Given the description of an element on the screen output the (x, y) to click on. 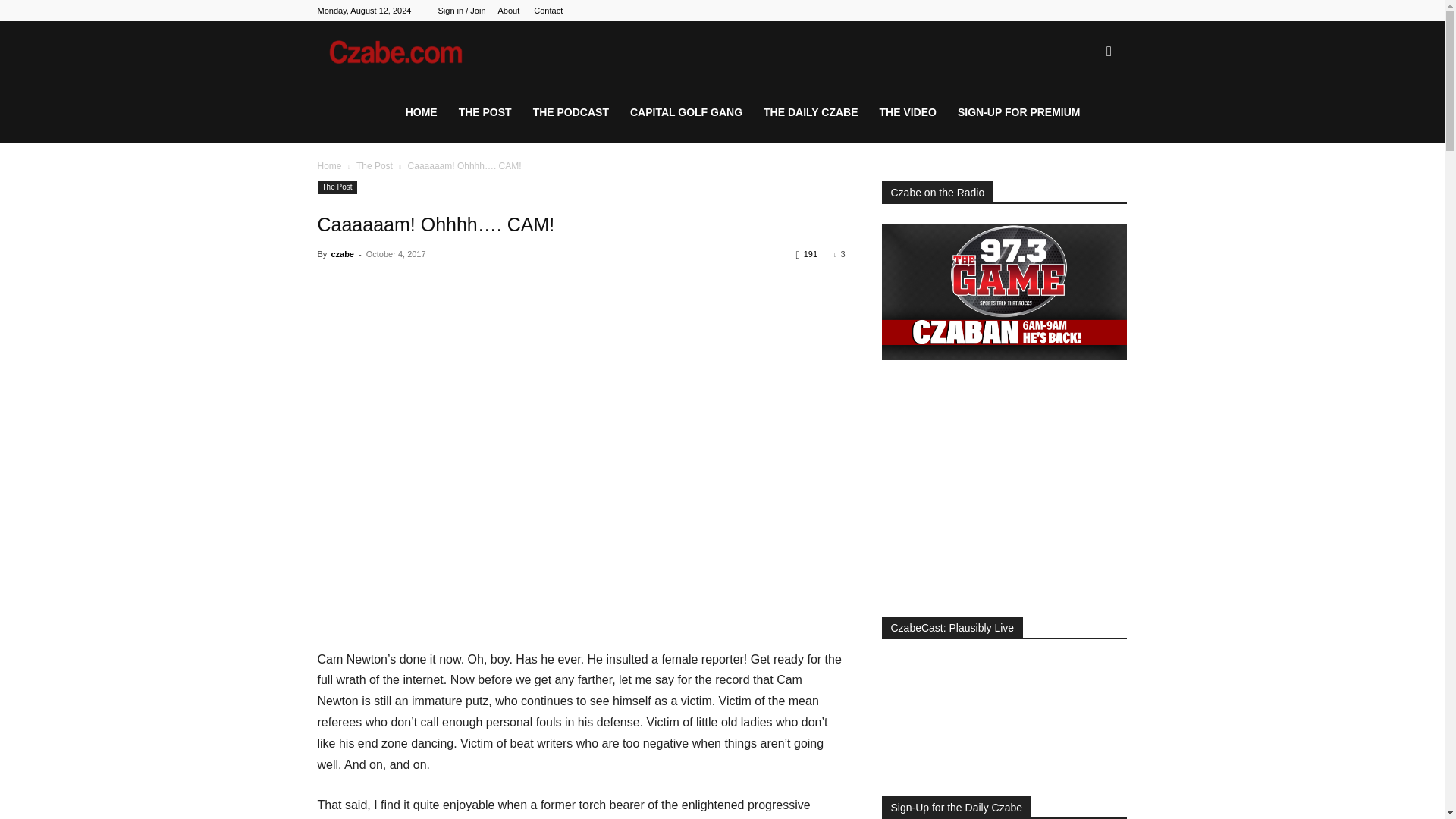
THE POST (485, 111)
Search (1085, 124)
Czabe.com (406, 51)
THE VIDEO (908, 111)
Contact (548, 10)
The Post (374, 165)
czabe (341, 253)
CAPITAL GOLF GANG (686, 111)
THE DAILY CZABE (809, 111)
